Given the description of an element on the screen output the (x, y) to click on. 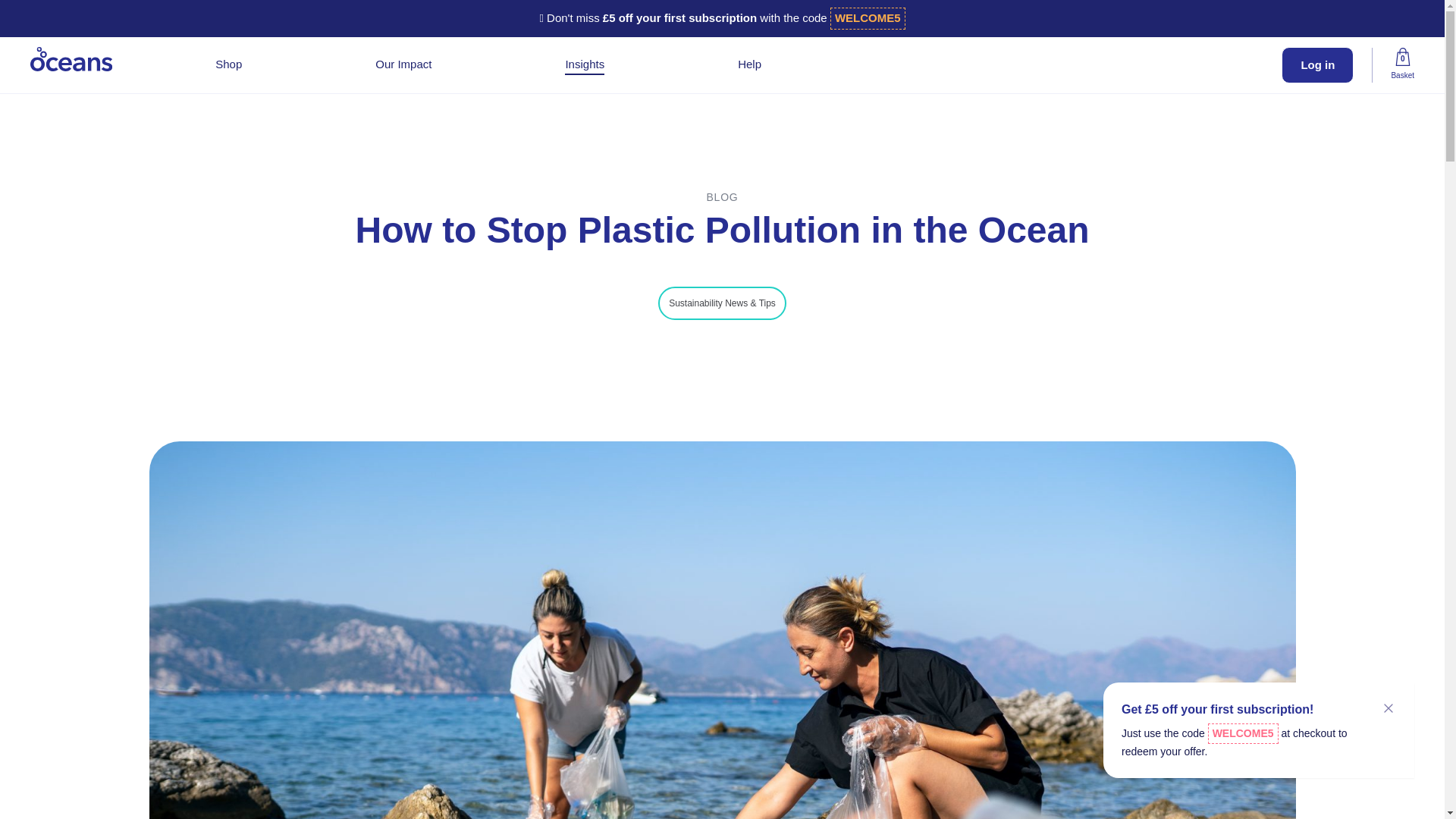
Log in (1317, 64)
Home (592, 80)
Shop (228, 63)
How to Stop Plastic Pollution in the Ocean (71, 58)
Insights (584, 63)
Our Impact (402, 63)
Help (749, 63)
